Given the description of an element on the screen output the (x, y) to click on. 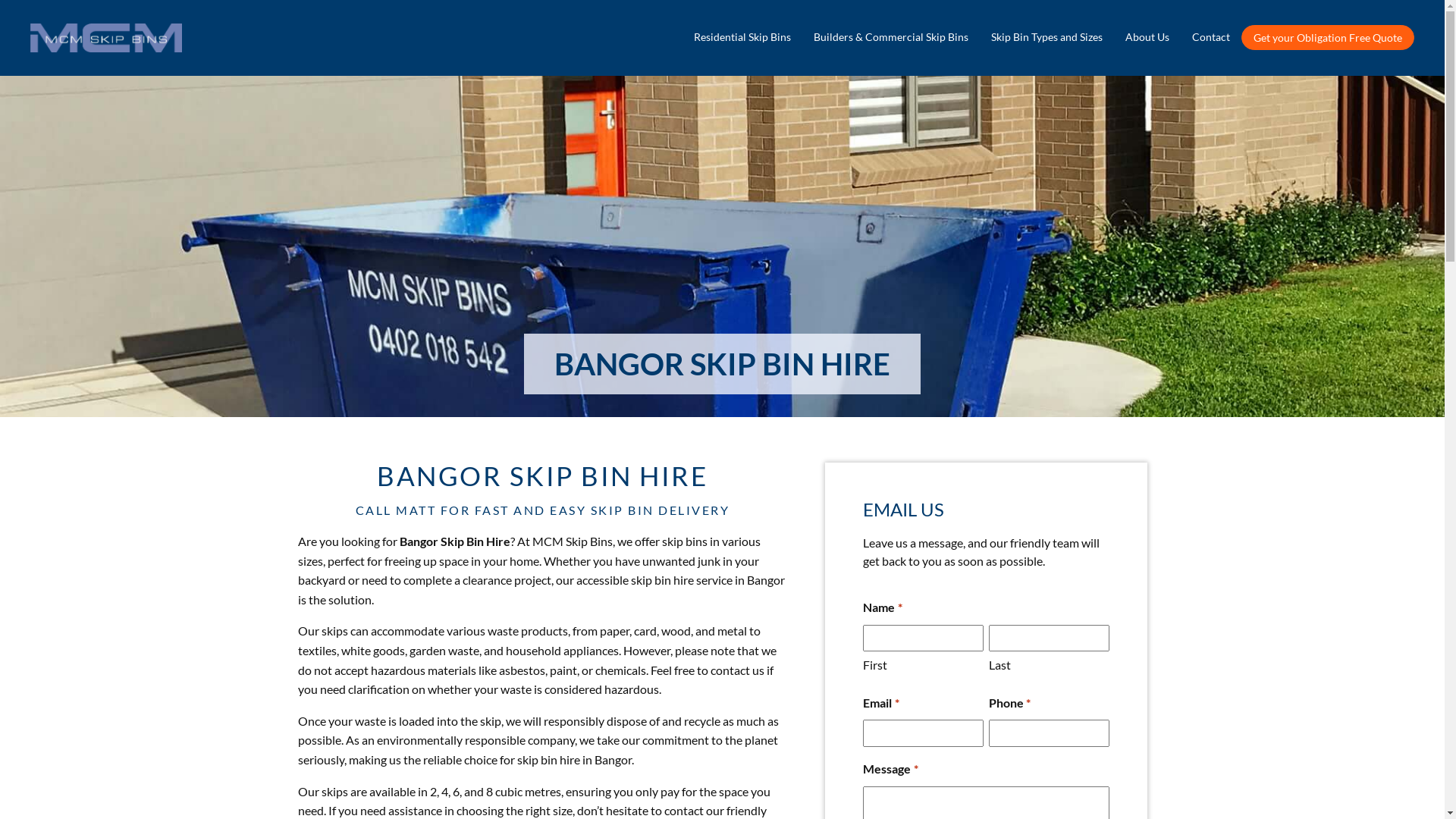
Skip Bin Types and Sizes Element type: text (1046, 36)
Builders & Commercial Skip Bins Element type: text (890, 36)
Get your Obligation Free Quote Element type: text (1327, 37)
Residential Skip Bins Element type: text (742, 36)
About Us Element type: text (1146, 36)
Contact Element type: text (1210, 36)
